Given the description of an element on the screen output the (x, y) to click on. 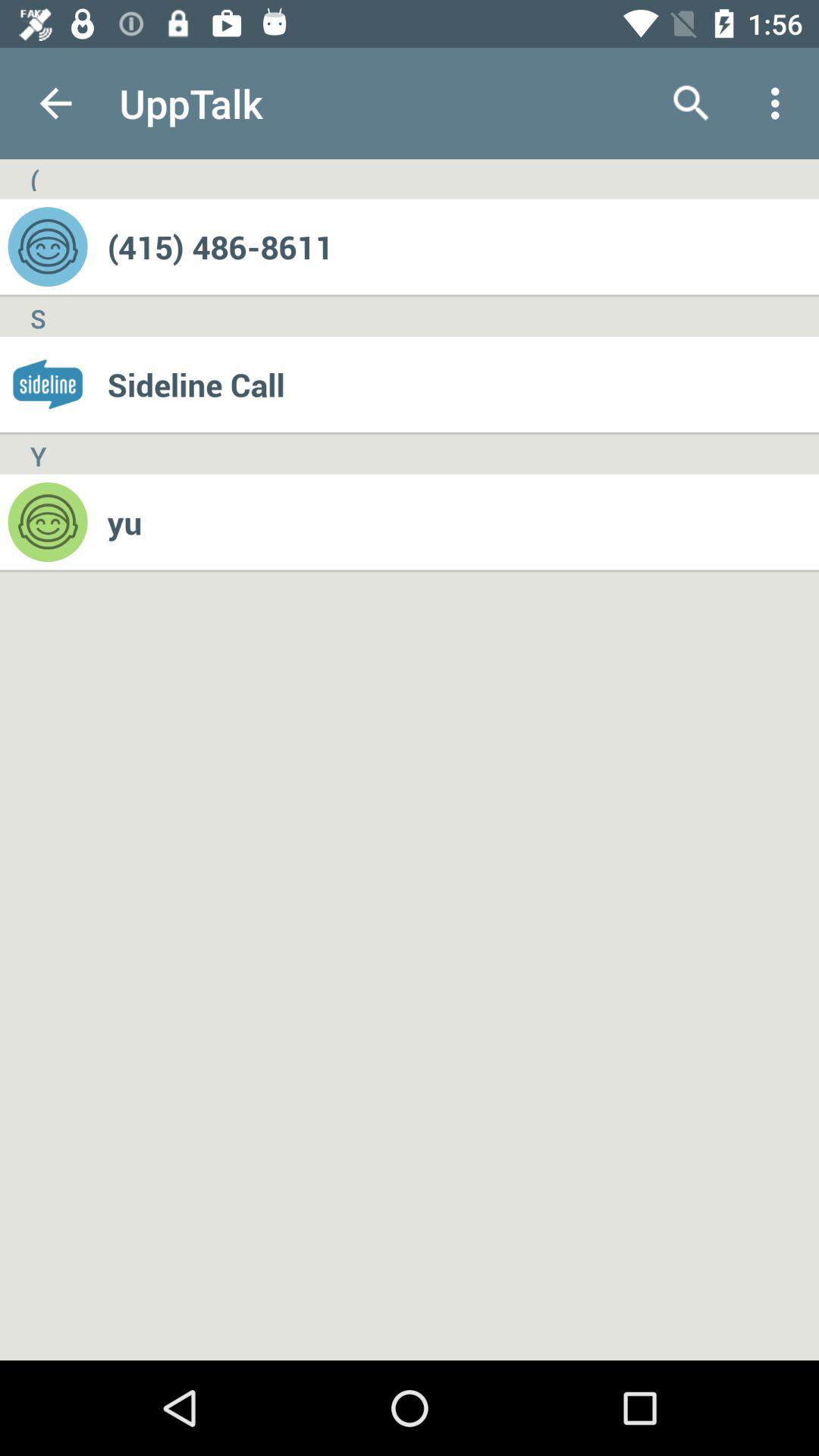
select the icon above sideline call item (463, 246)
